Given the description of an element on the screen output the (x, y) to click on. 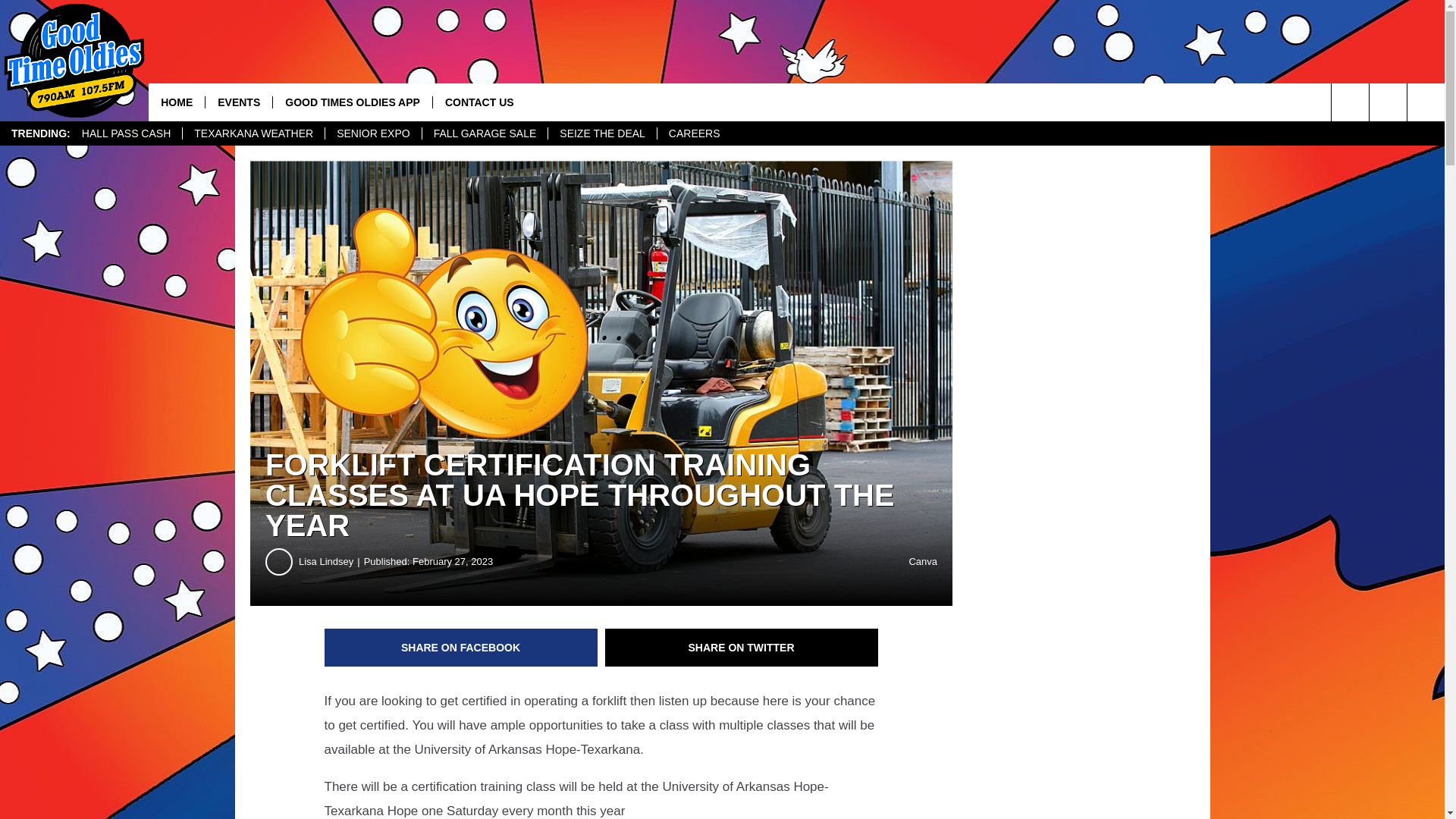
FALL GARAGE SALE (485, 133)
SHARE ON TWITTER (741, 647)
SENIOR EXPO (372, 133)
EVENTS (238, 102)
SHARE ON FACEBOOK (460, 647)
Visit us on Facebook (1388, 102)
Lisa Lindsey (331, 561)
CAREERS (694, 133)
GOOD TIMES OLDIES APP (352, 102)
TEXARKANA WEATHER (253, 133)
